Given the description of an element on the screen output the (x, y) to click on. 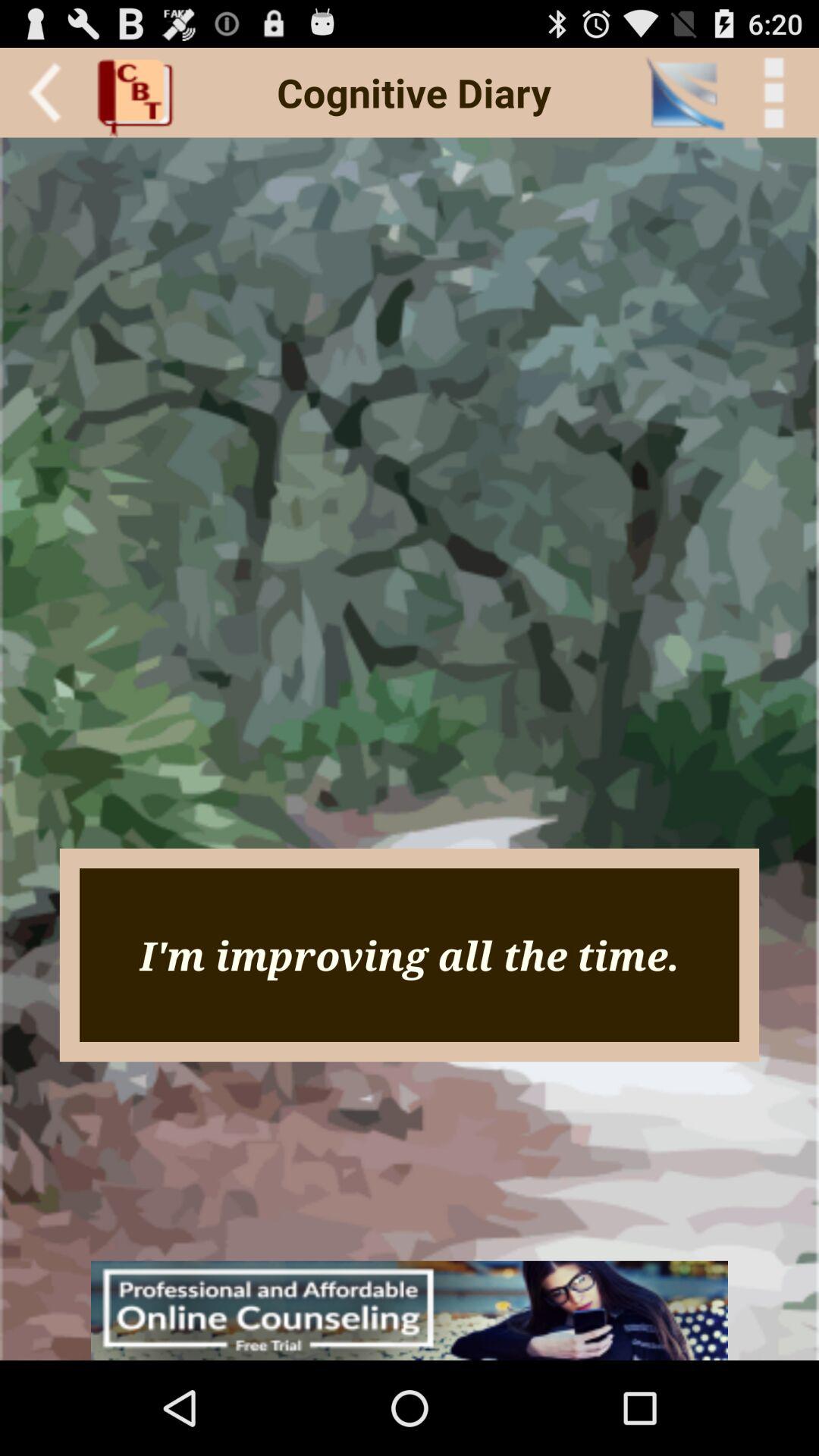
click icon below the i m improving (409, 1310)
